Given the description of an element on the screen output the (x, y) to click on. 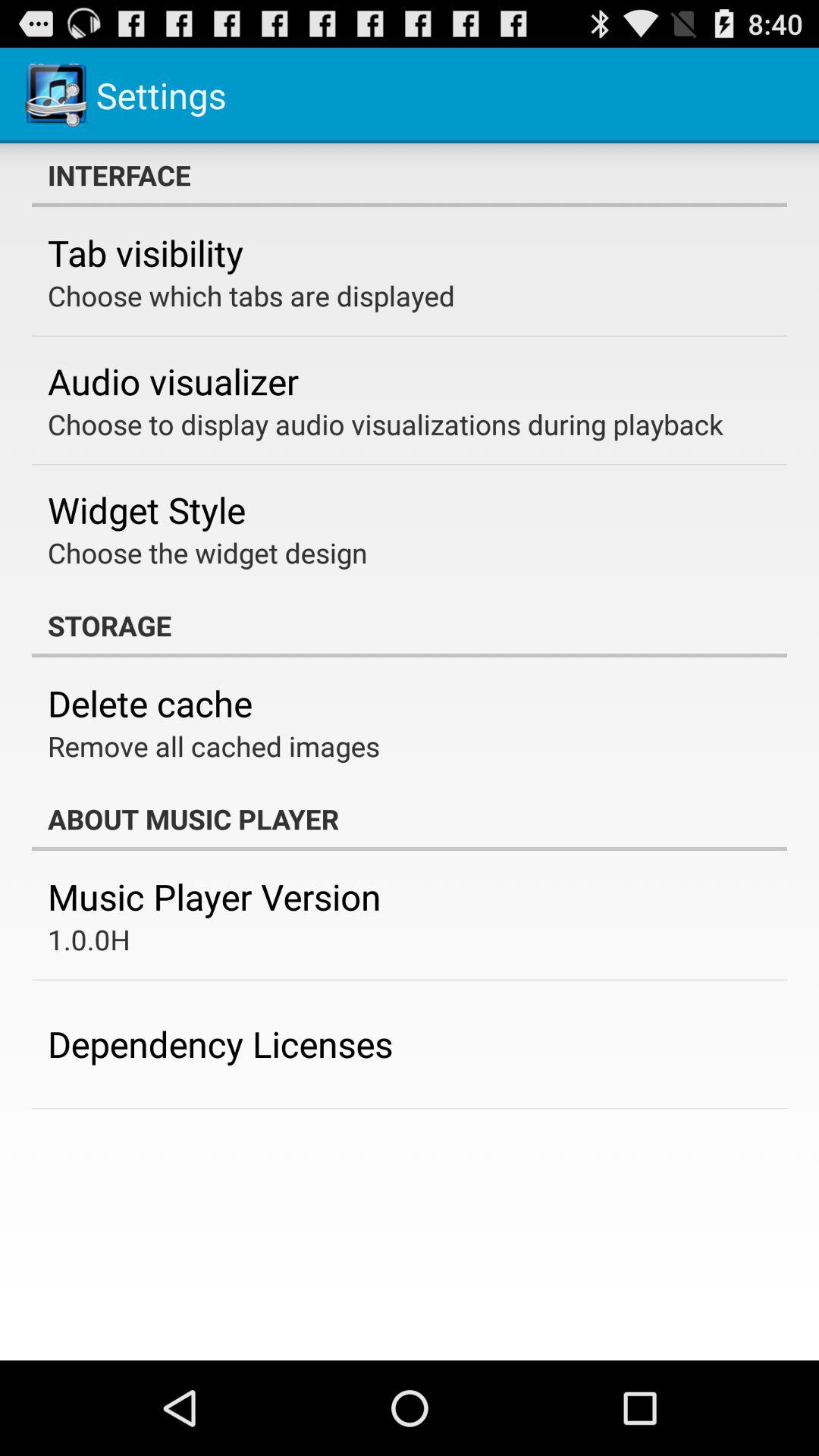
tap icon above the remove all cached app (149, 703)
